Given the description of an element on the screen output the (x, y) to click on. 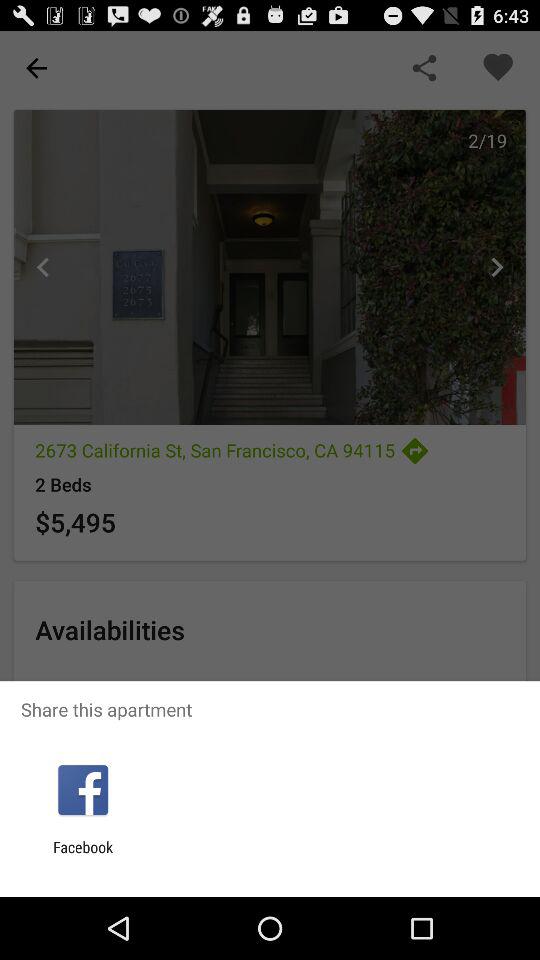
click the icon below share this apartment item (82, 789)
